Given the description of an element on the screen output the (x, y) to click on. 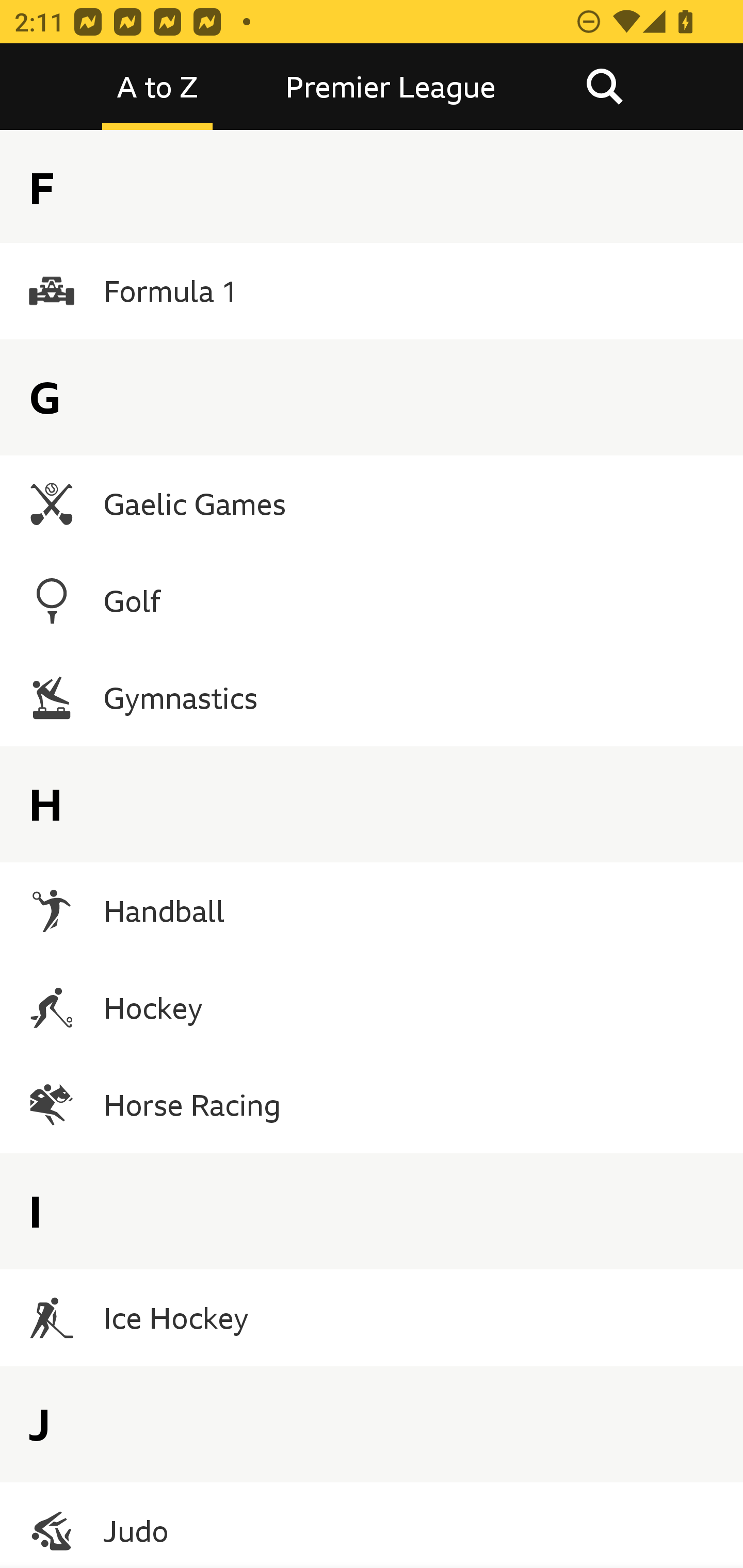
Premier League (390, 86)
Search (604, 86)
Football (371, 194)
Formula 1 (371, 290)
Gaelic Games (371, 502)
Golf (371, 600)
Gymnastics (371, 697)
Handball (371, 910)
Hockey (371, 1007)
Horse Racing (371, 1105)
Ice Hockey (371, 1317)
Judo (371, 1524)
